Given the description of an element on the screen output the (x, y) to click on. 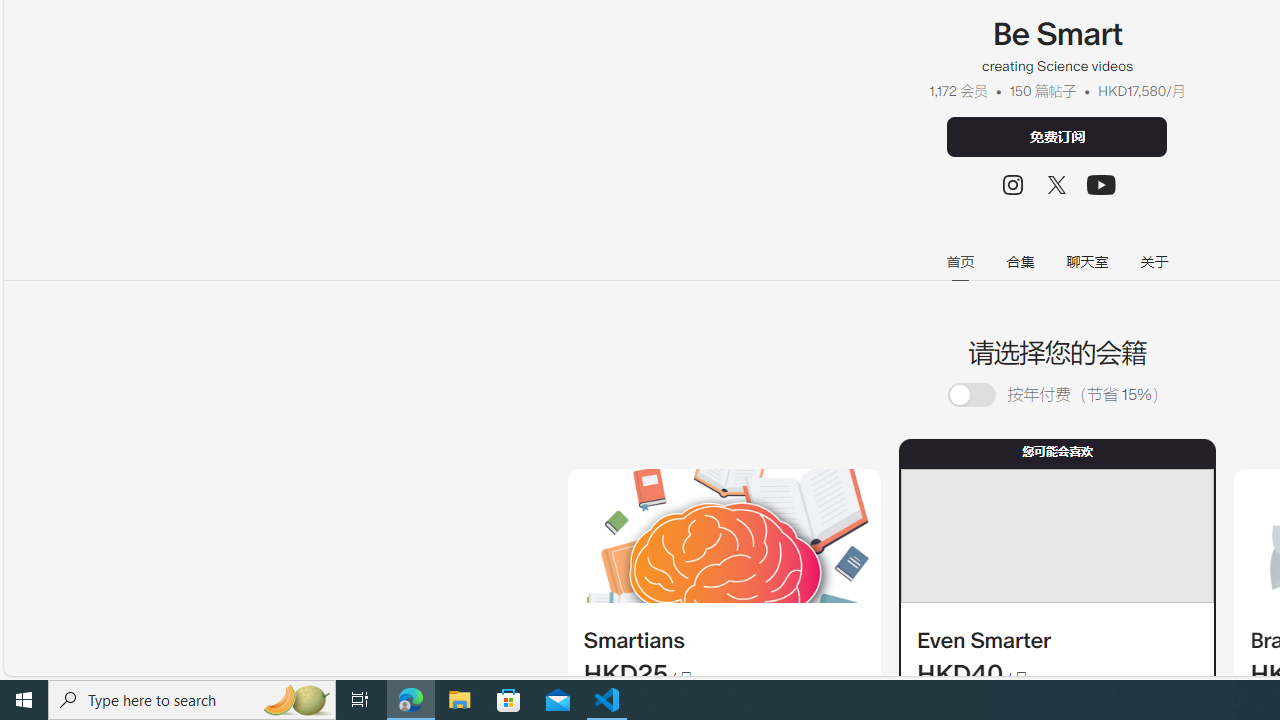
Class: sc-jrQzAO HeRcC sc-1b5vbhn-1 hqVCmM (1101, 184)
Class: sc-1a2jhmw-3 djwfLg (1056, 536)
